Given the description of an element on the screen output the (x, y) to click on. 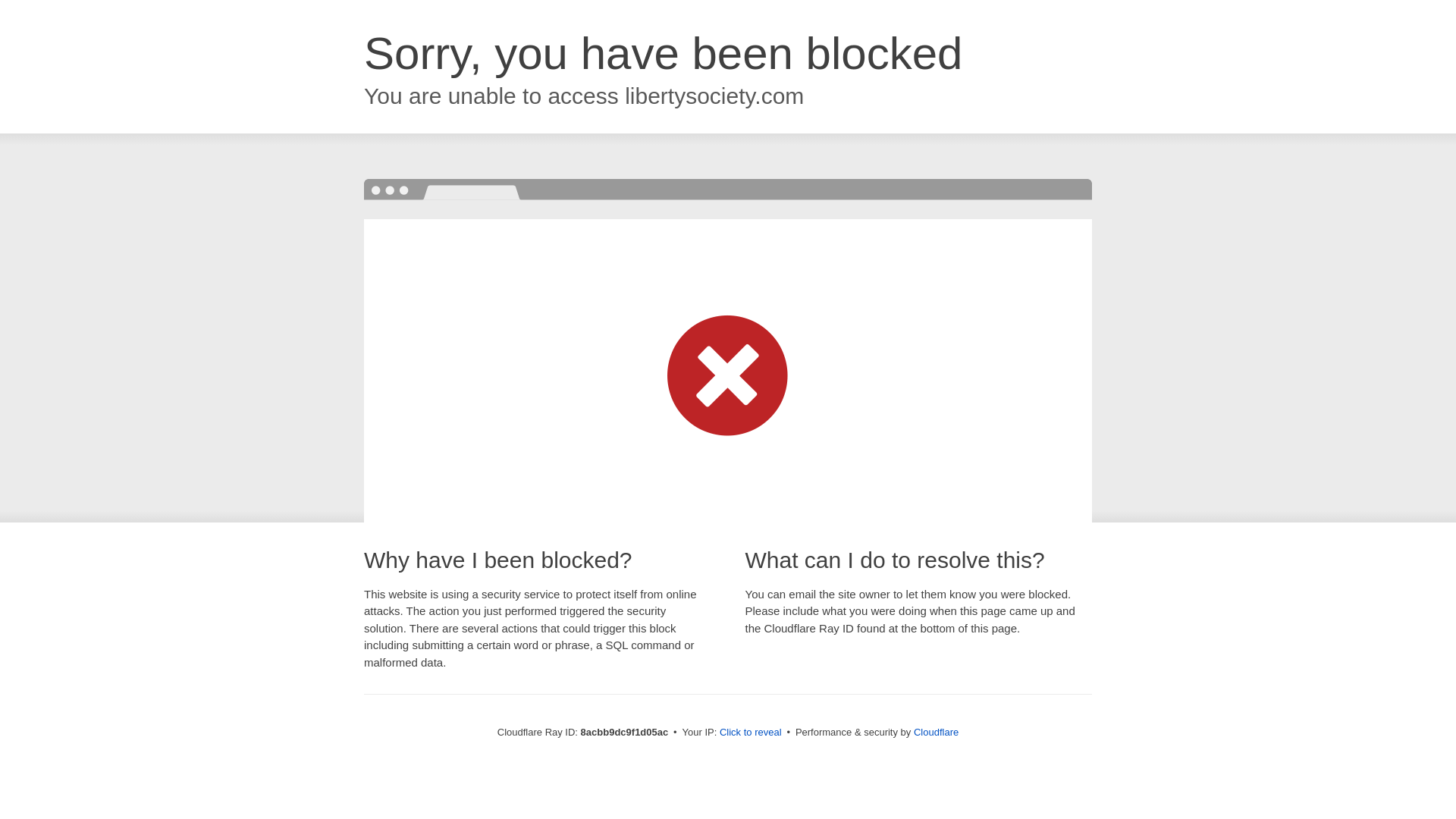
Cloudflare (936, 731)
Click to reveal (750, 732)
